Given the description of an element on the screen output the (x, y) to click on. 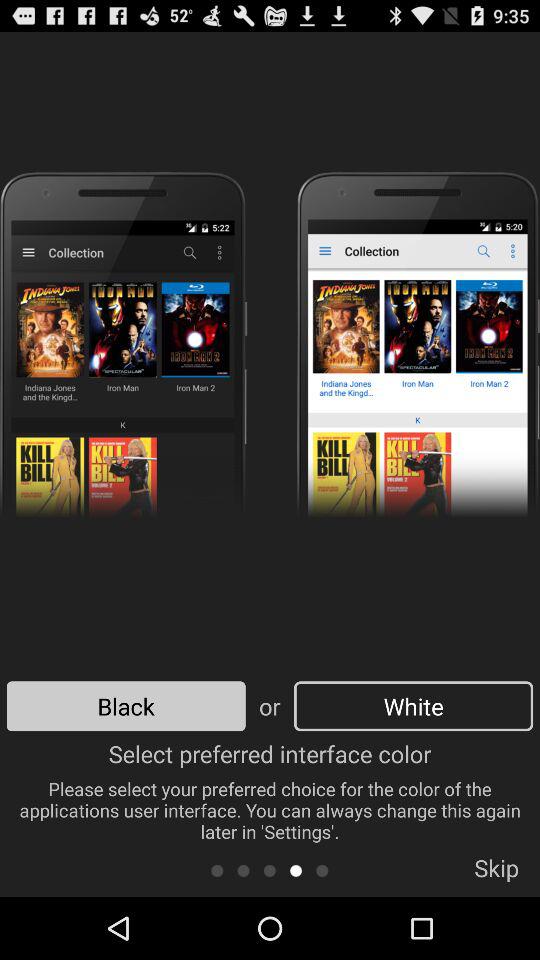
tap icon below the select preferred interface (216, 870)
